Given the description of an element on the screen output the (x, y) to click on. 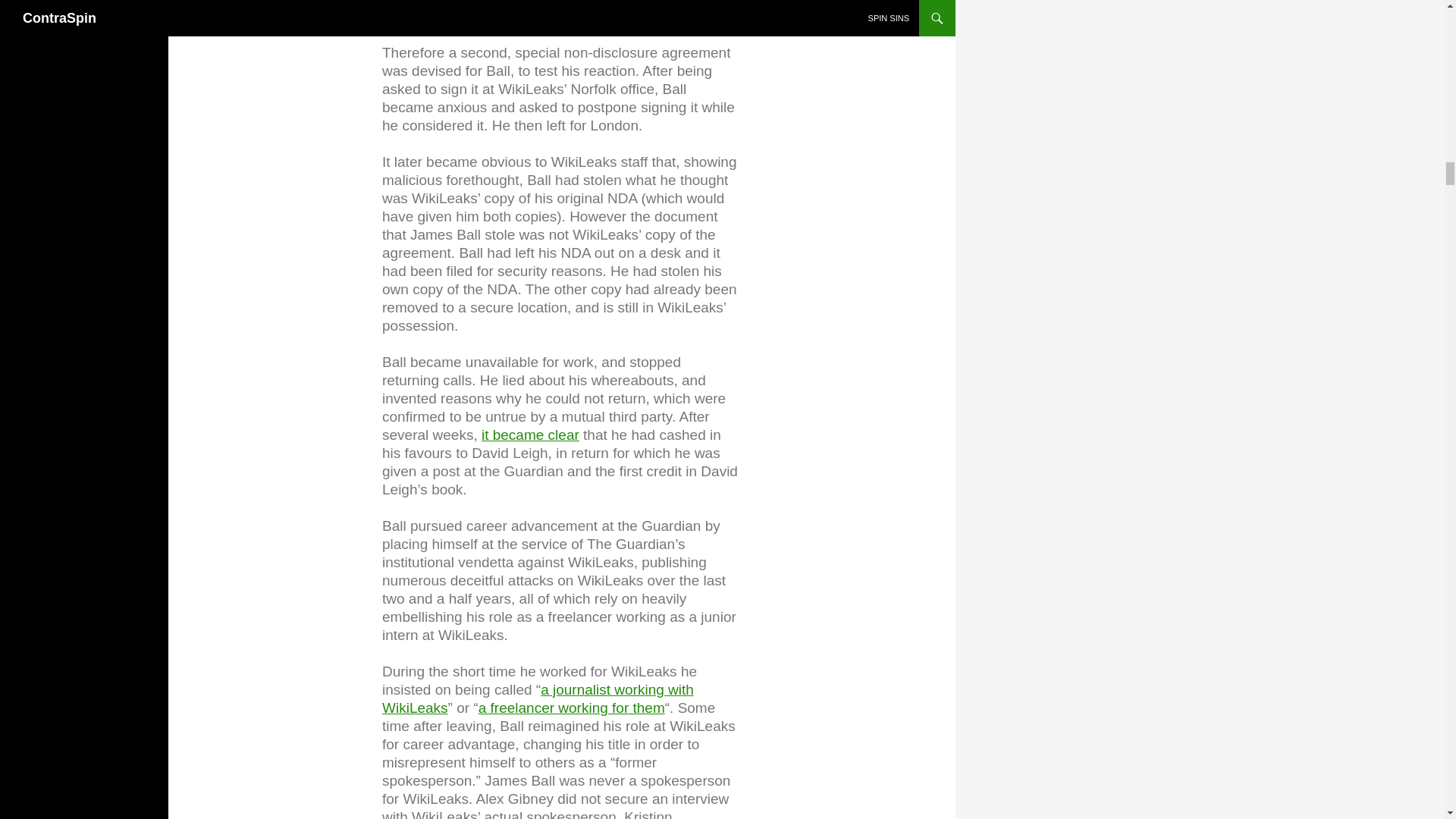
it became clear (530, 433)
a freelancer working for them (572, 706)
a journalist working with WikiLeaks (537, 697)
